Given the description of an element on the screen output the (x, y) to click on. 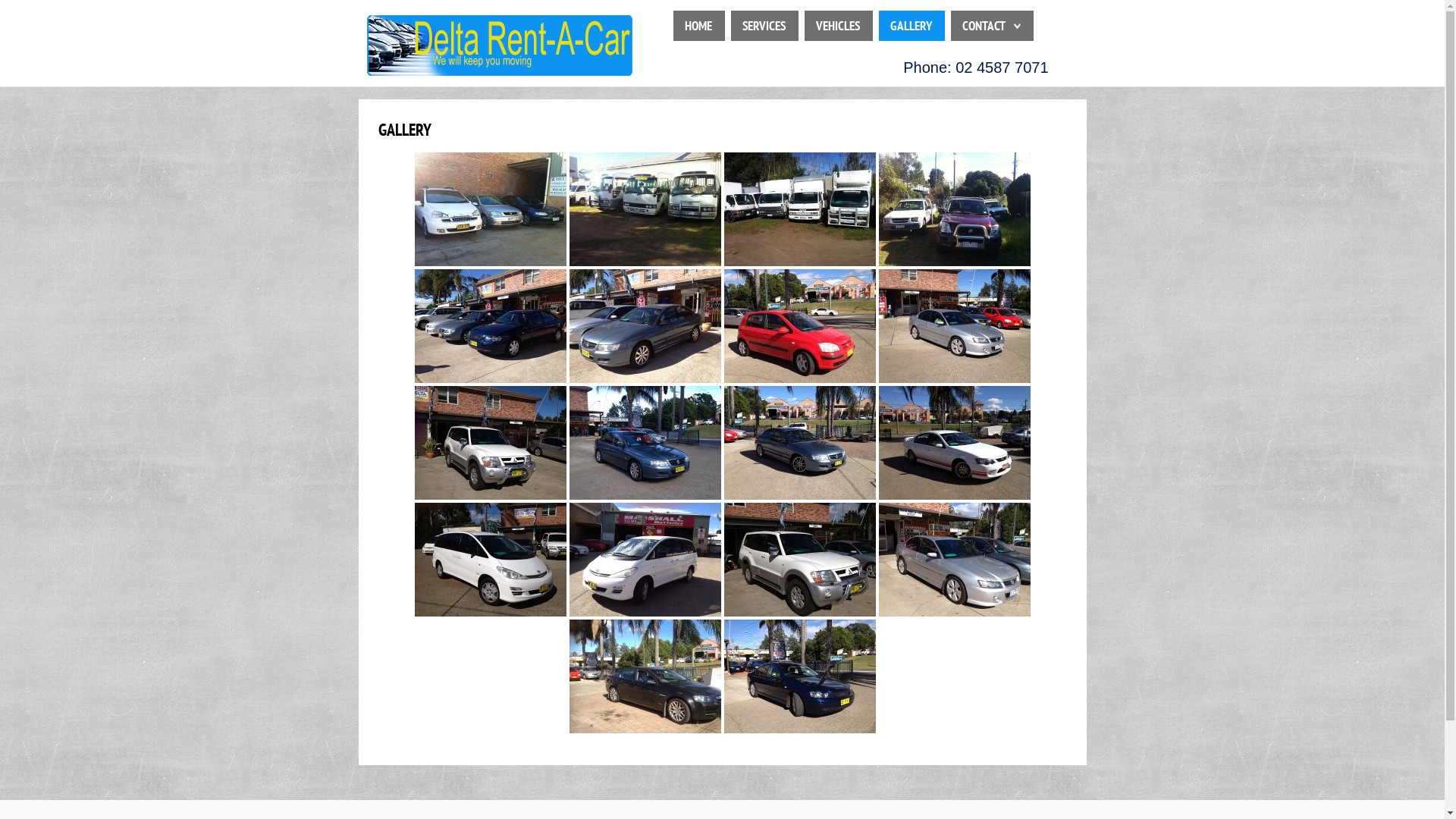
SERVICES Element type: text (762, 25)
VEHICLES Element type: text (837, 25)
GALLERY Element type: text (910, 25)
CONTACT Element type: text (990, 25)
HOME Element type: text (697, 25)
CONTACT Element type: text (982, 25)
